Given the description of an element on the screen output the (x, y) to click on. 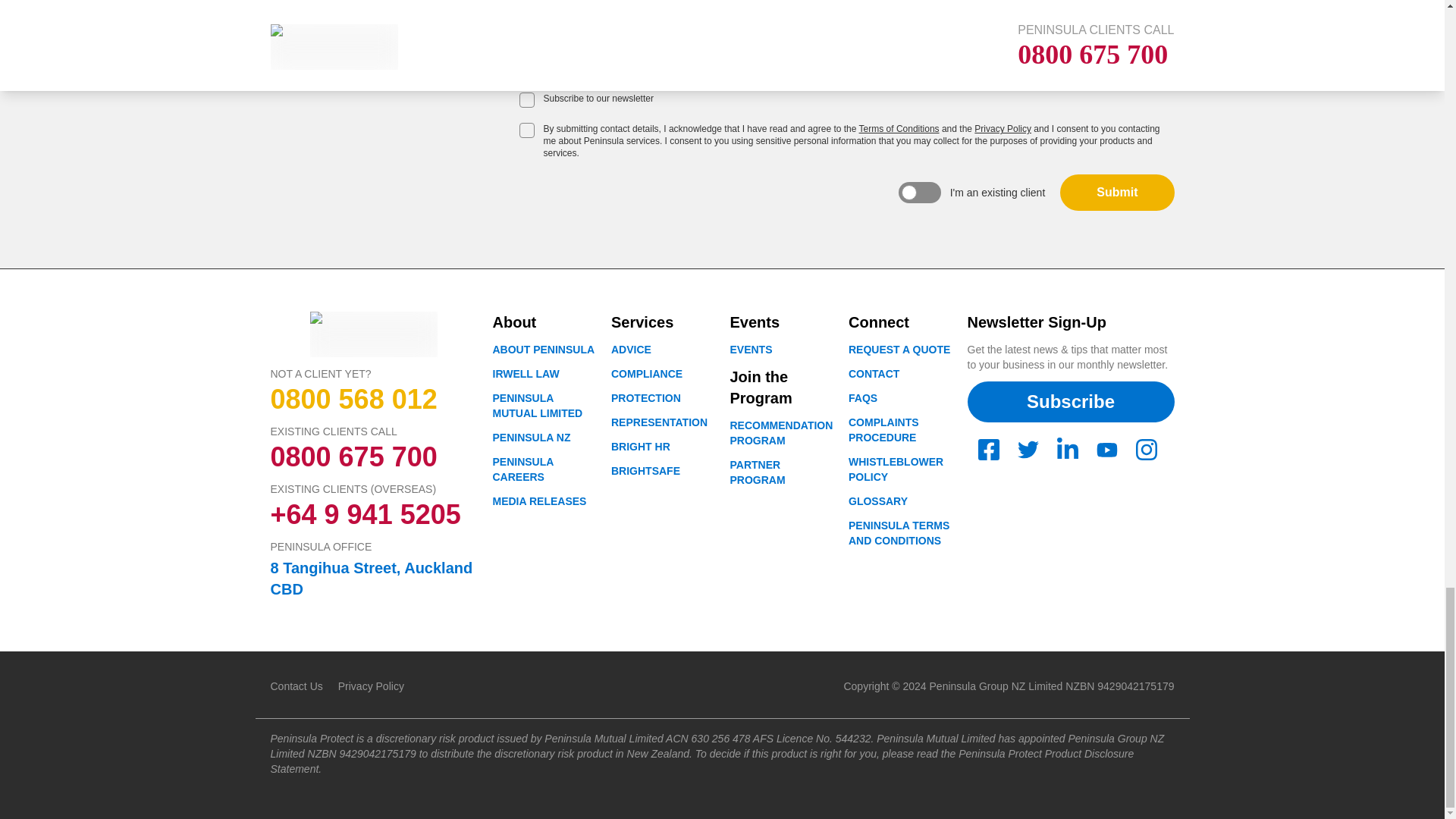
Employsures Frequently Asked Questions (862, 398)
Peninsula Protection Services (646, 398)
on (526, 99)
Peninsula Complaints Procedure (883, 429)
BrightSafe (645, 470)
Peninsula Careers (523, 469)
BrightHR (640, 446)
Recommendation Program (780, 432)
Peninsula's Partner Program (756, 472)
Peninsula Representation Services (659, 422)
Peninsula Events (750, 349)
Peninsula Mutual Limited (538, 405)
Peninsula (531, 437)
Peninsula Compliance Support (646, 373)
Peninsula Whistleblower Policy (895, 469)
